Given the description of an element on the screen output the (x, y) to click on. 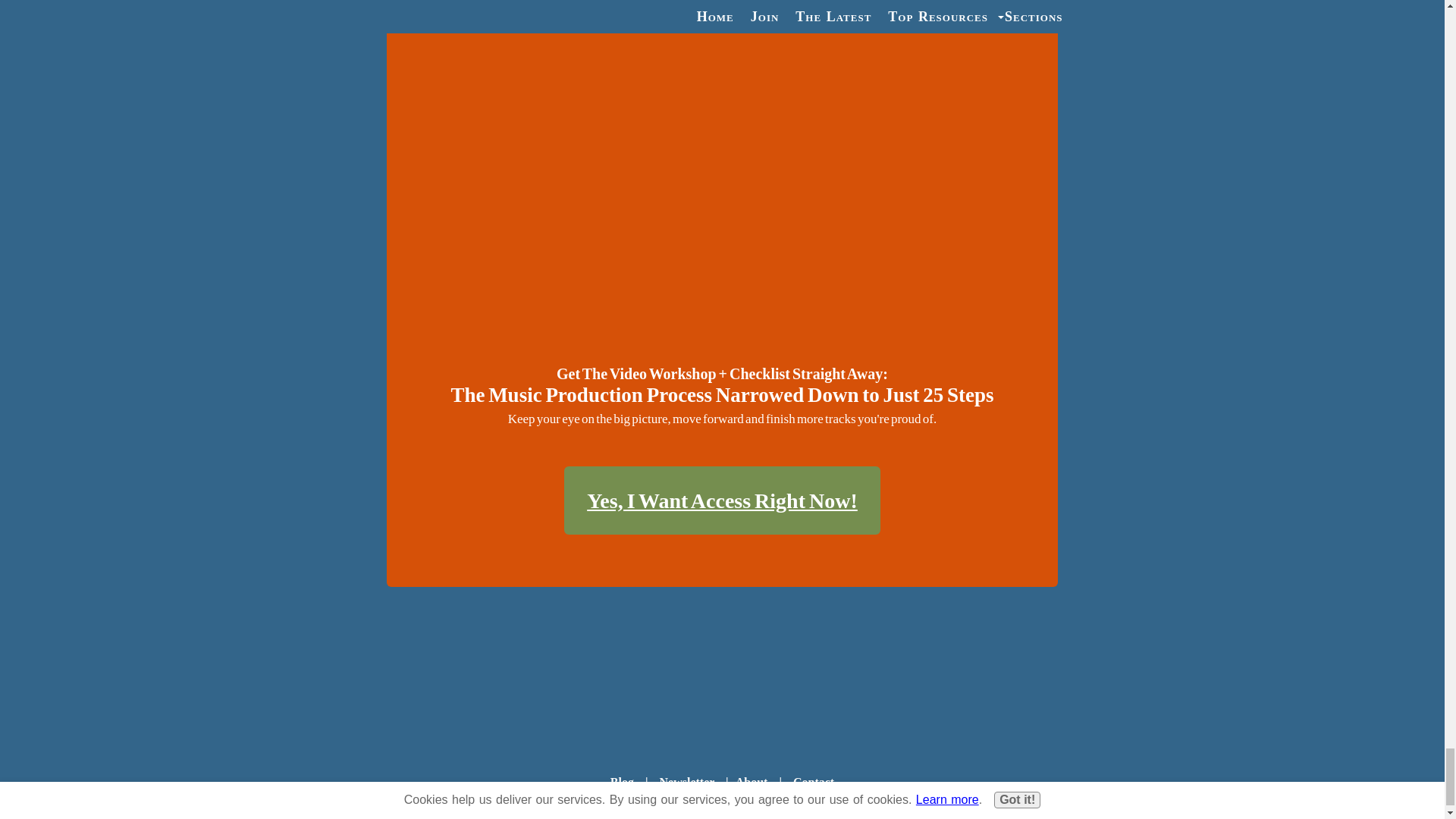
Yes, I Want Access Right Now! (722, 499)
Go to RenegadeProducer - Produce Music Like a Pro (722, 707)
